Given the description of an element on the screen output the (x, y) to click on. 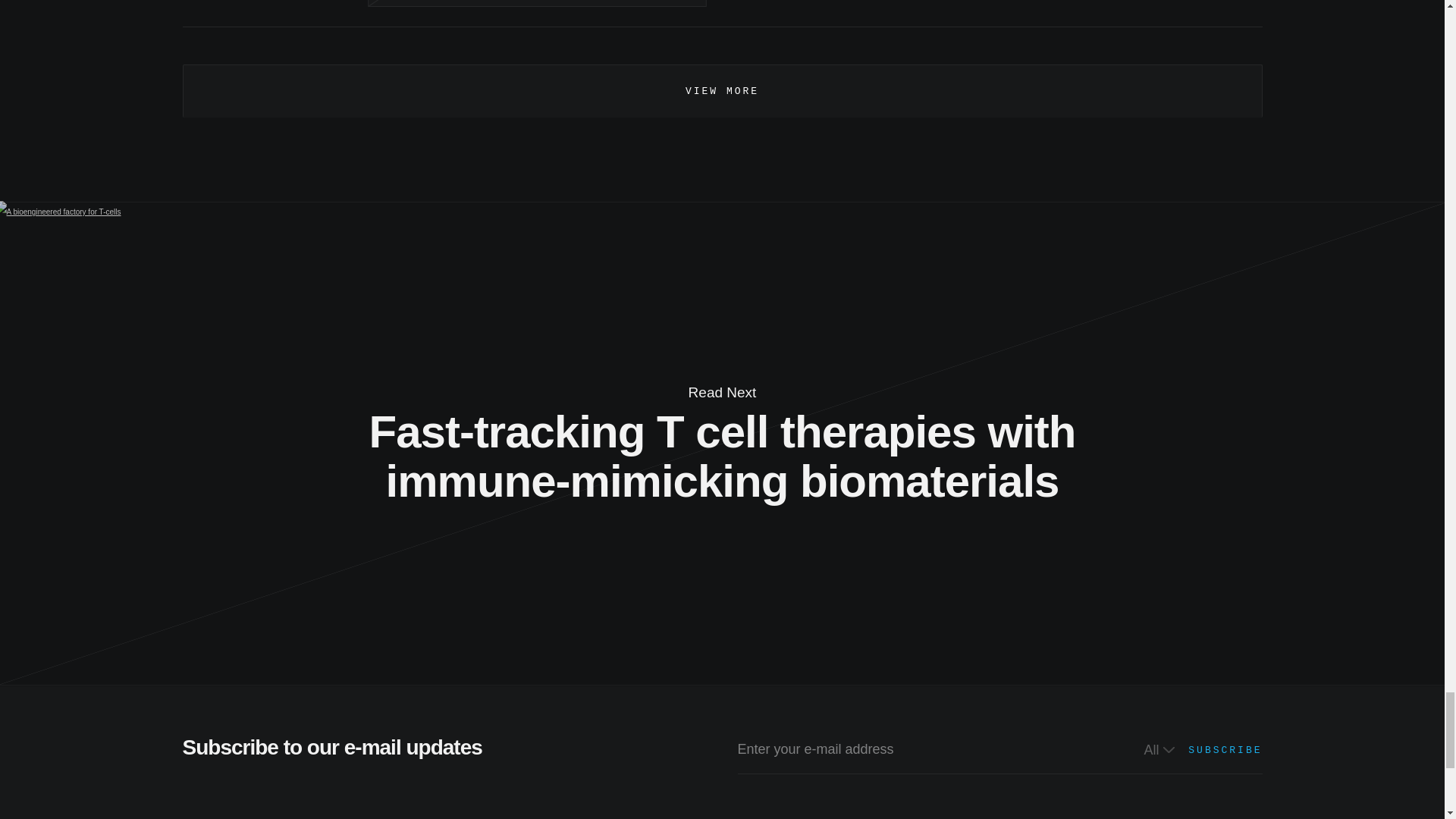
Subscribe to our e-mail updates (722, 775)
